Given the description of an element on the screen output the (x, y) to click on. 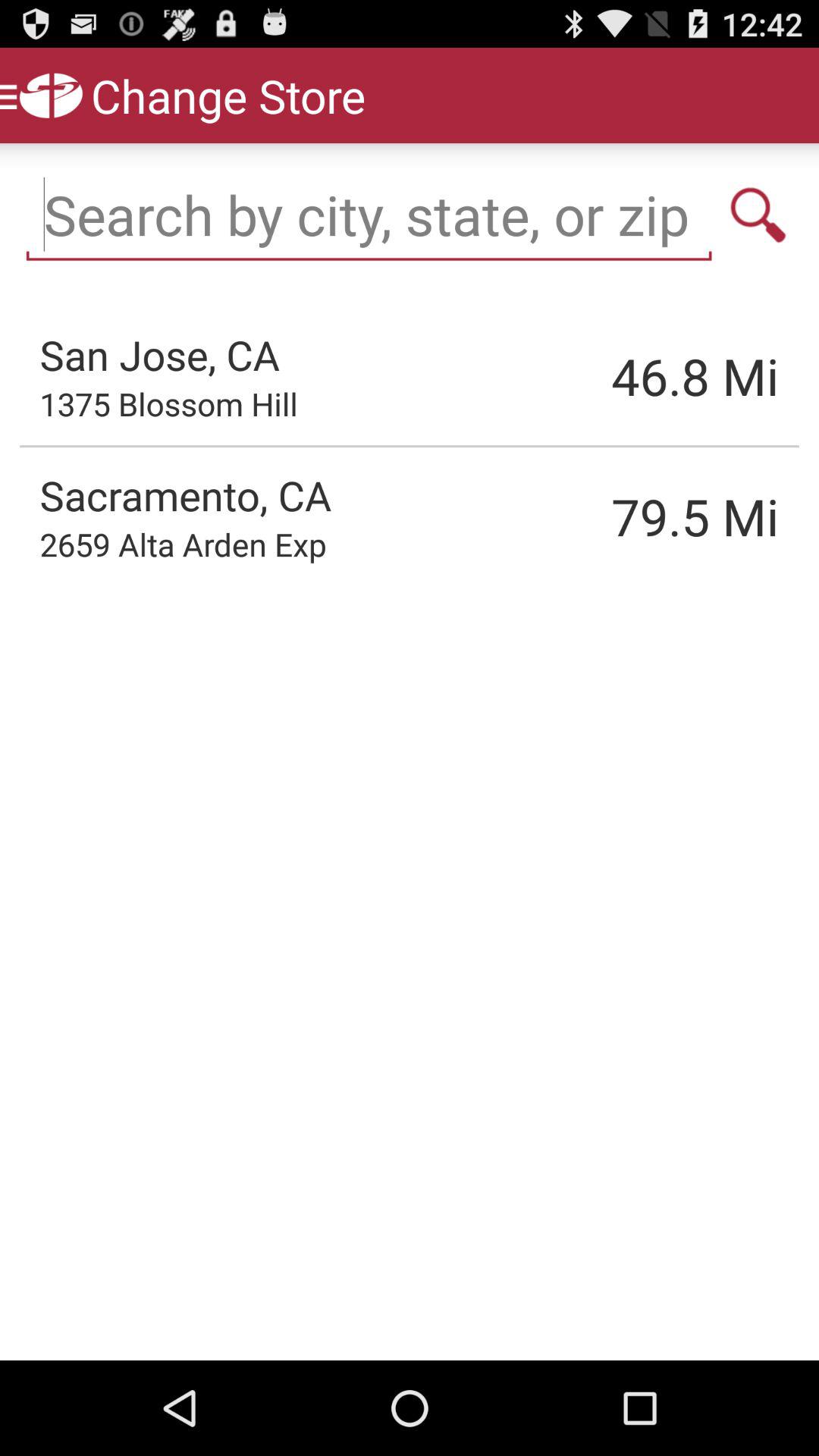
launch icon above the sacramento, ca (168, 403)
